Given the description of an element on the screen output the (x, y) to click on. 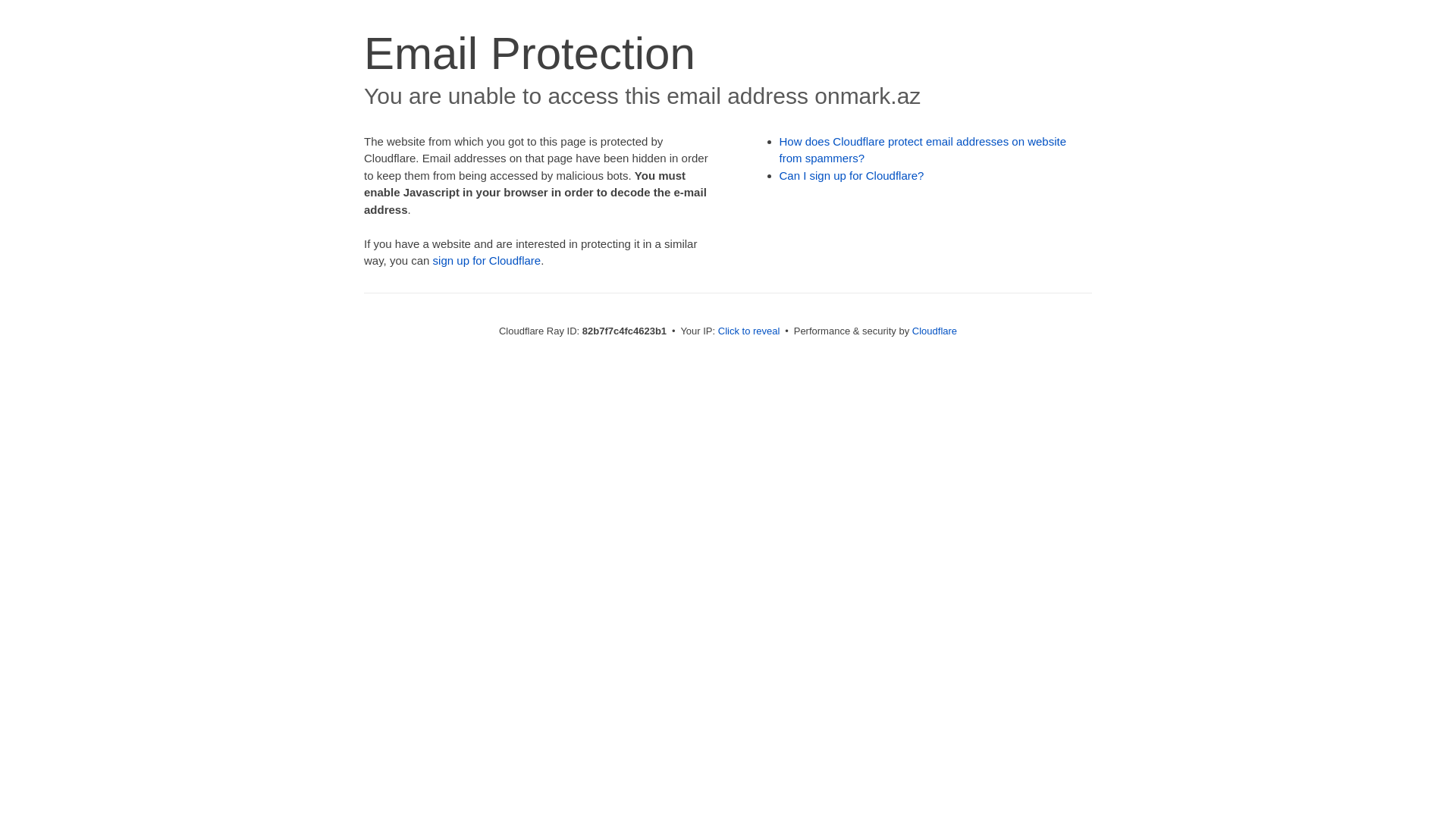
Cloudflare Element type: text (934, 330)
sign up for Cloudflare Element type: text (487, 260)
Click to reveal Element type: text (749, 330)
Can I sign up for Cloudflare? Element type: text (851, 175)
